Given the description of an element on the screen output the (x, y) to click on. 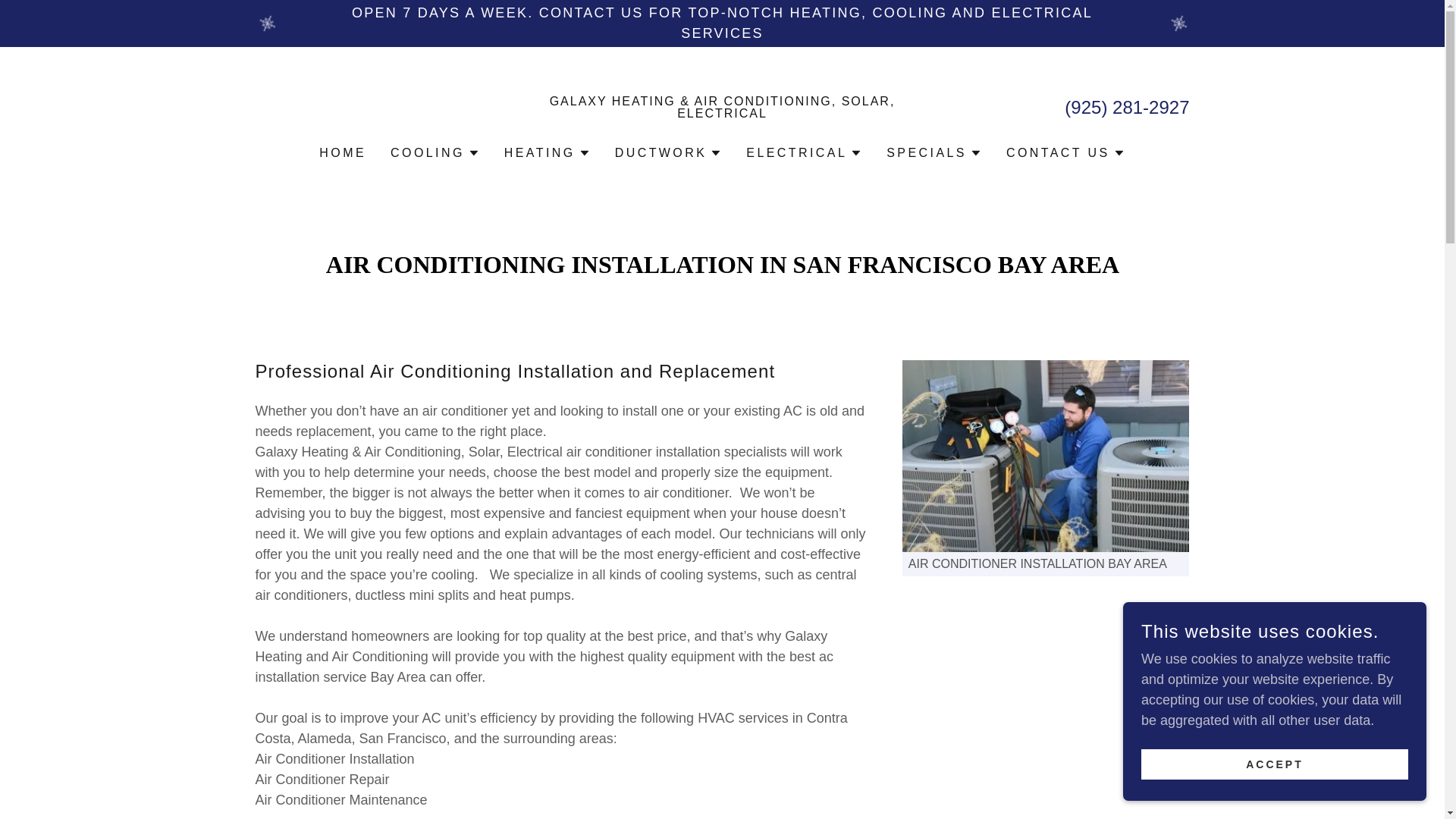
CONTACT US (1065, 153)
HEATING (547, 153)
DUCTWORK (668, 153)
SPECIALS (933, 153)
COOLING (435, 153)
ELECTRICAL (803, 153)
HOME (342, 153)
